Given the description of an element on the screen output the (x, y) to click on. 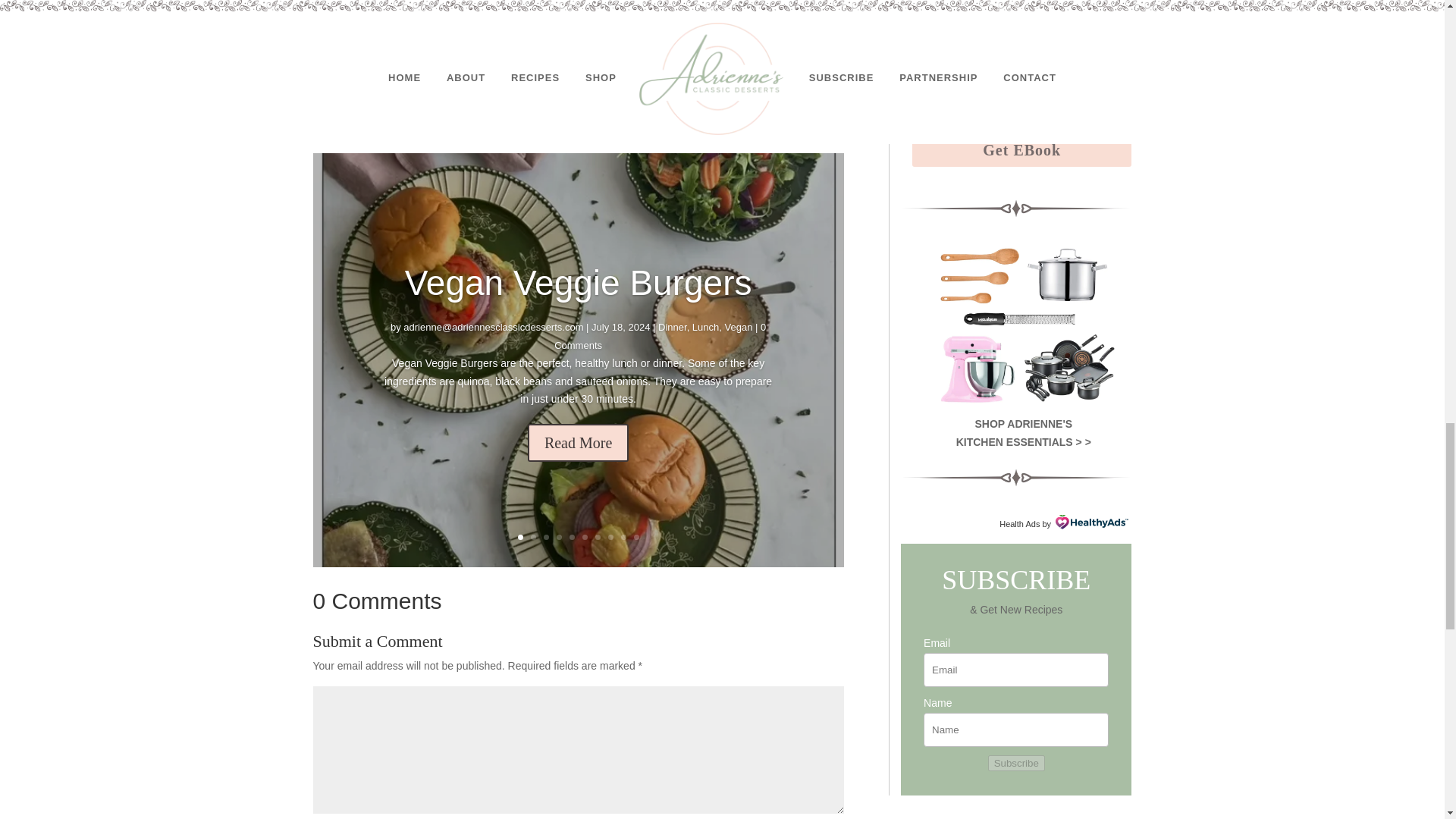
Health Ads (1018, 523)
Lunch (706, 343)
Vegan Veggie Burgers (578, 306)
Vegan (738, 338)
Read More (577, 451)
Dinner (672, 346)
